Given the description of an element on the screen output the (x, y) to click on. 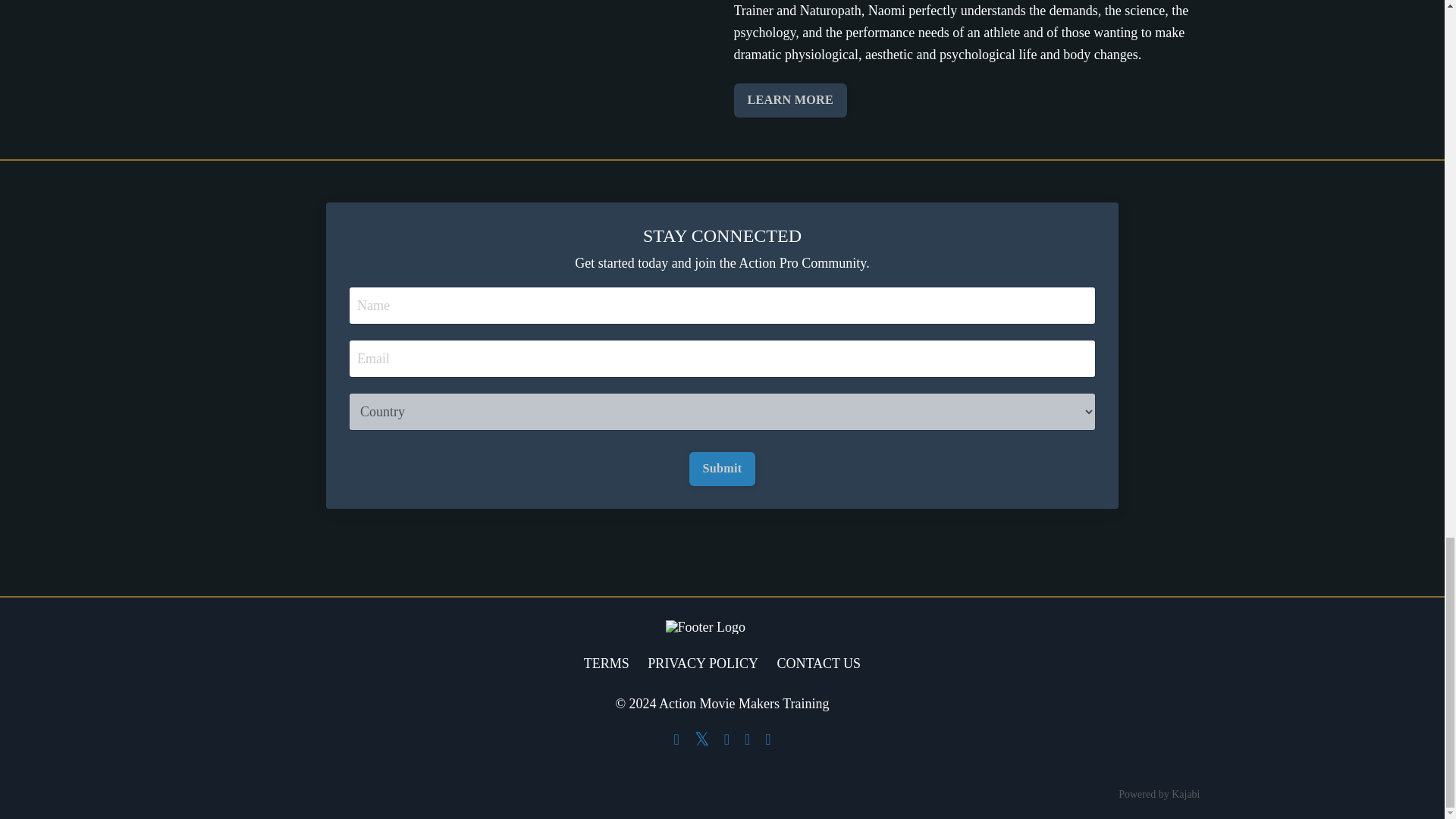
PRIVACY POLICY (702, 663)
TERMS (605, 663)
Powered by Kajabi (1158, 794)
CONTACT US (818, 663)
LEARN MORE (790, 100)
Submit (721, 468)
